Given the description of an element on the screen output the (x, y) to click on. 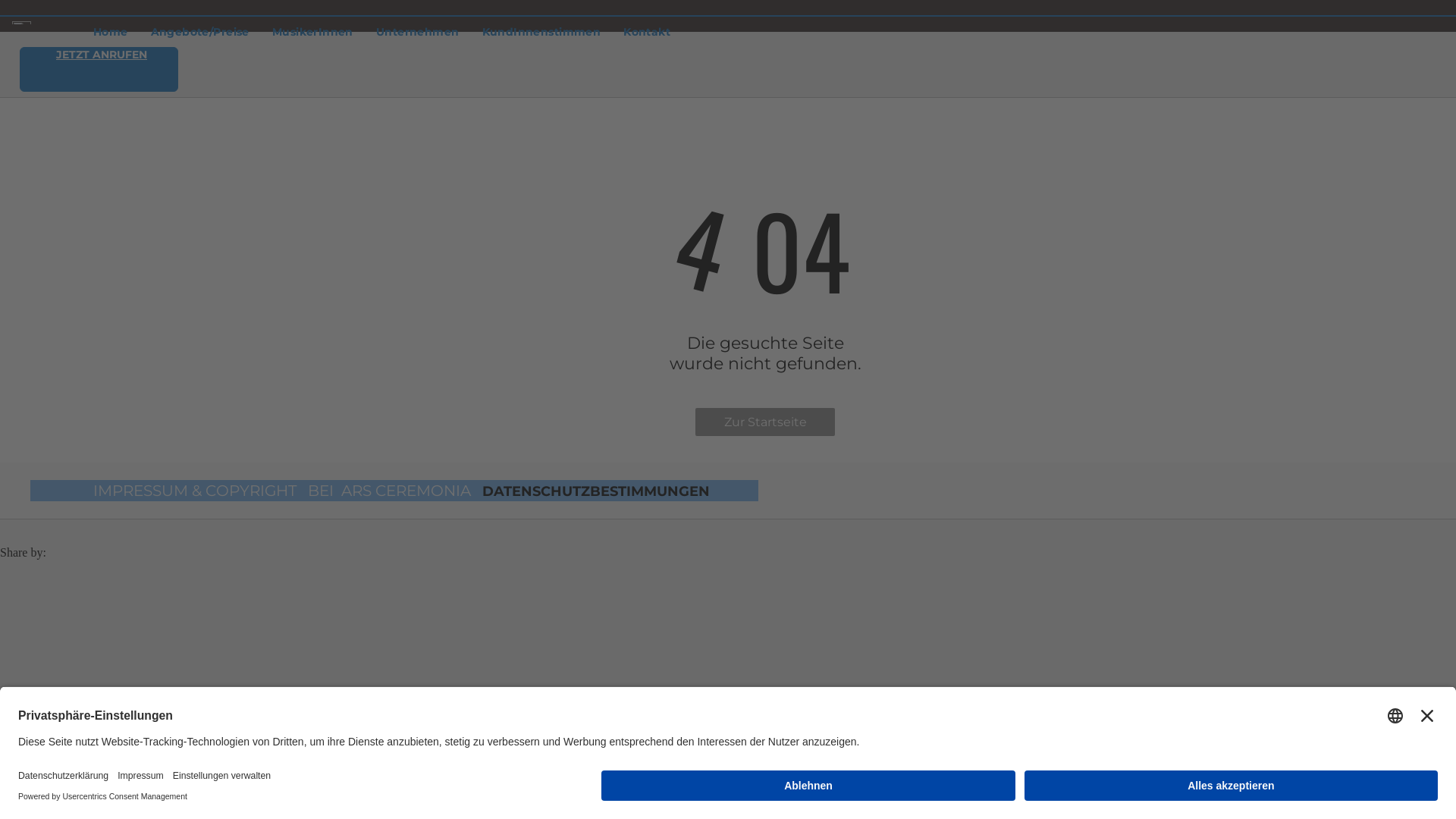
Unternehmen Element type: text (417, 31)
KundInnenstimmen Element type: text (540, 31)
Zur Startseite Element type: text (764, 421)
Teilen Element type: hover (16, 529)
Home Element type: text (110, 31)
JETZT ANRUFEN Element type: text (98, 69)
Kontakt Element type: text (646, 31)
DATENSCHUTZBESTIMMUNGEN Element type: text (595, 491)
Weiter (Pfeil nach rechts) Element type: hover (16, 542)
MusikerInnen Element type: text (312, 31)
Vollbild ein-/ausschalten Element type: hover (28, 529)
Angebote/Preise Element type: text (199, 31)
